Given the description of an element on the screen output the (x, y) to click on. 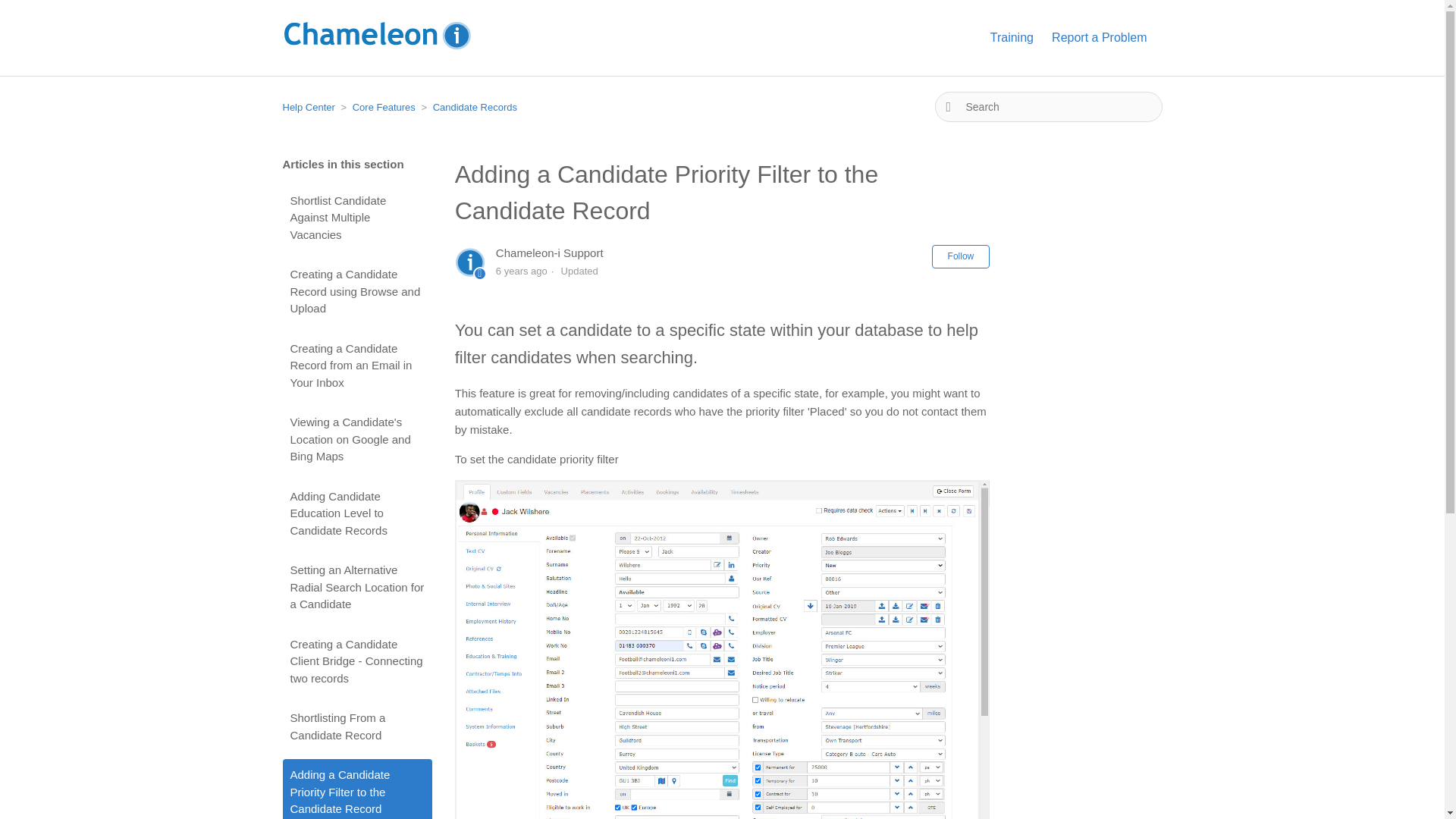
Candidate Records (466, 107)
Training (1019, 37)
Core Features (378, 107)
Help Center (308, 107)
Adding a Candidate Priority Filter to the Candidate Record (356, 789)
Creating a Candidate Record from an Email in Your Inbox (356, 365)
Adding a Candidate Priority Filter to the Candidate Record (722, 192)
Core Features (383, 107)
Candidate Records (474, 107)
Follow (960, 255)
Creating a Candidate Client Bridge - Connecting two records (356, 661)
Viewing a Candidate's Location on Google and Bing Maps (356, 439)
Creating a Candidate Record using Browse and Upload (356, 291)
Shortlist Candidate Against Multiple Vacancies (356, 218)
Adding Candidate Education Level to Candidate Records (356, 513)
